Given the description of an element on the screen output the (x, y) to click on. 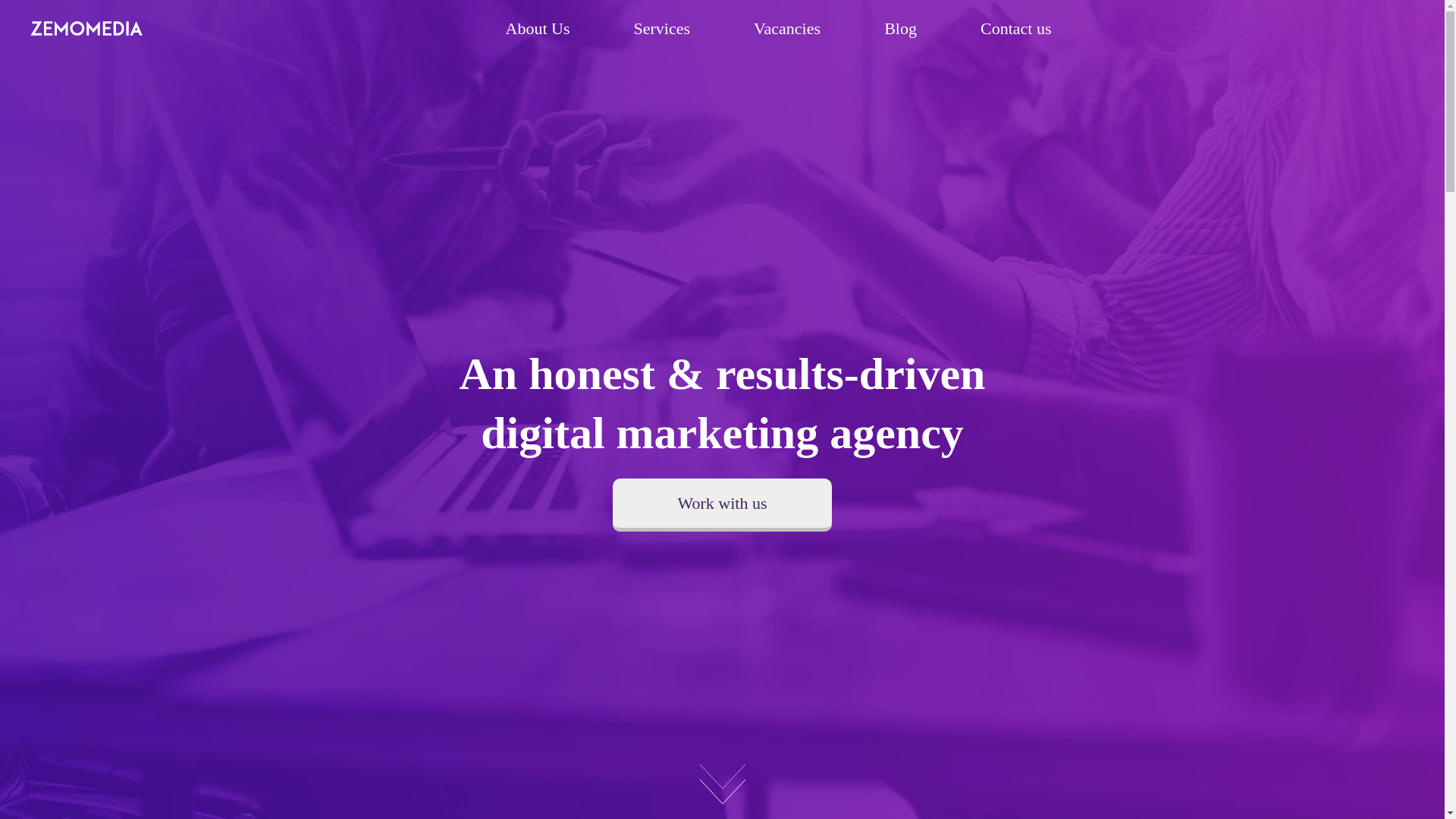
Vacancies (787, 27)
About Us (537, 27)
Work with us (721, 504)
Services (661, 27)
Blog (900, 27)
